Given the description of an element on the screen output the (x, y) to click on. 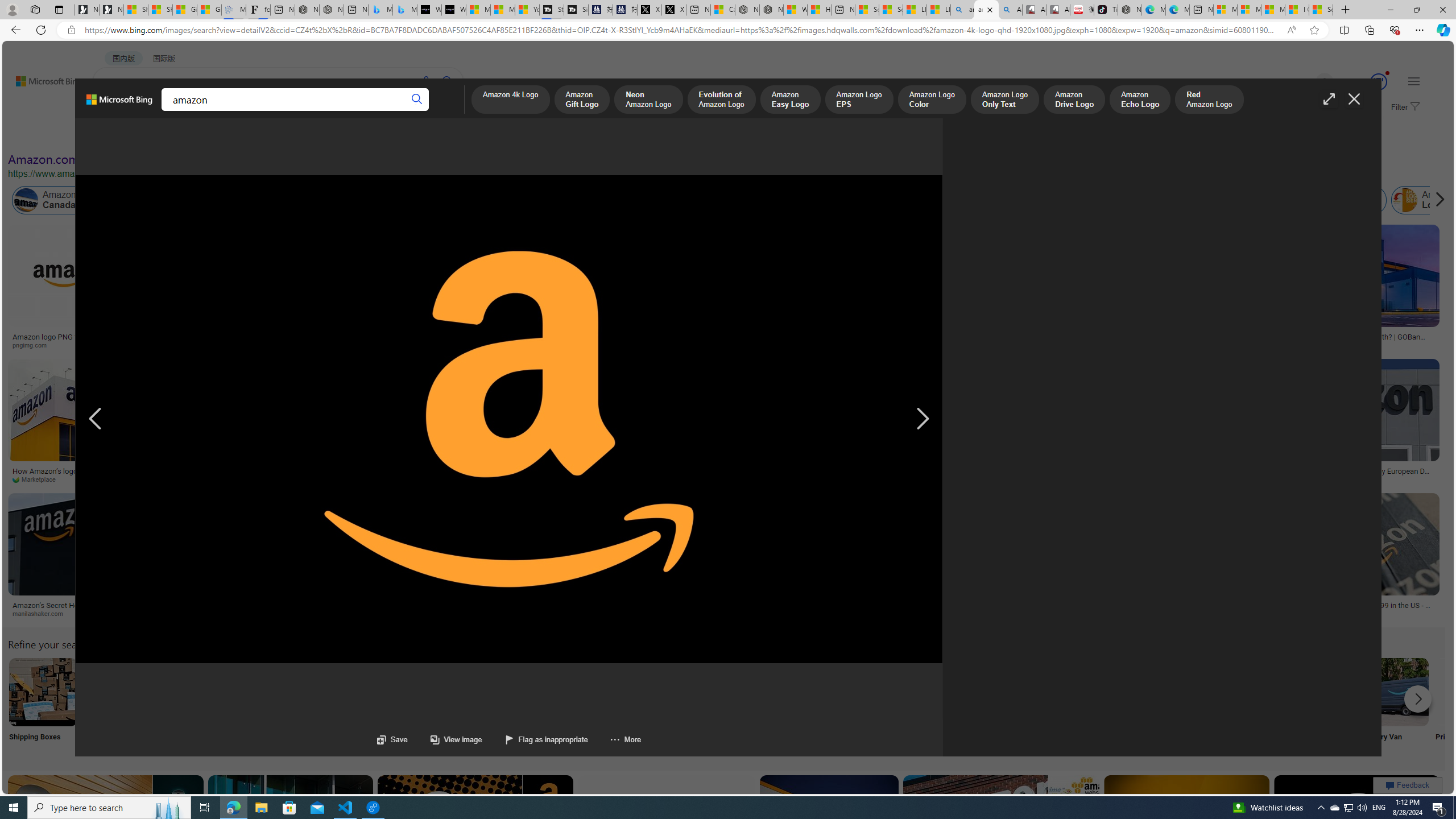
Online Store (644, 706)
AutomationID: navr (922, 418)
DICT (357, 111)
Amazon Labor Law Violation in California (642, 199)
DICT (357, 111)
usatoday.com (370, 344)
Amazon Retail Store (493, 691)
Clip Art (192, 706)
Shanghai, China weather forecast | Microsoft Weather (159, 9)
Microsoft Bing, Back to Bing search (118, 104)
Amazon Shoes (1079, 200)
